Given the description of an element on the screen output the (x, y) to click on. 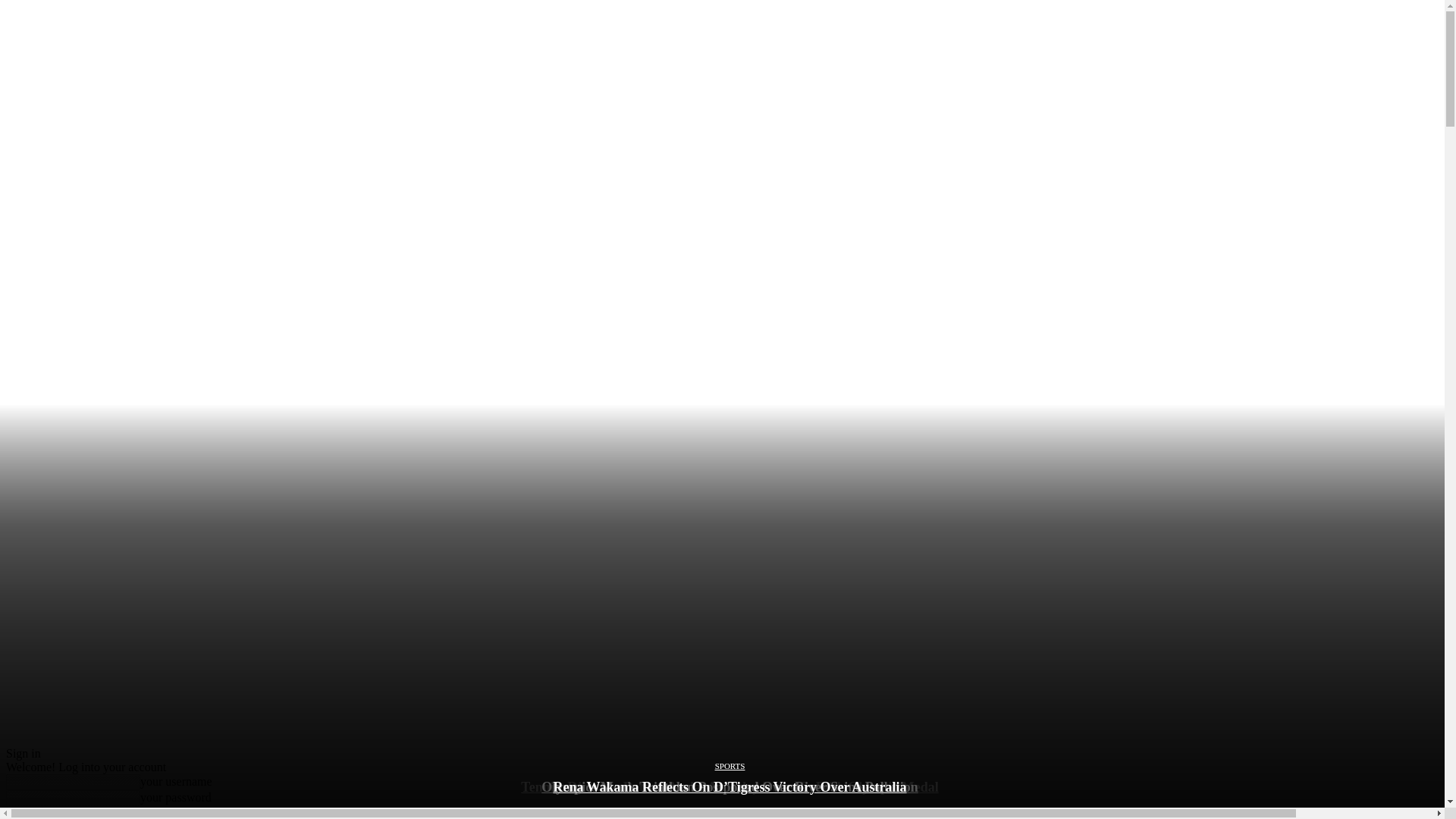
Login (24, 812)
